Given the description of an element on the screen output the (x, y) to click on. 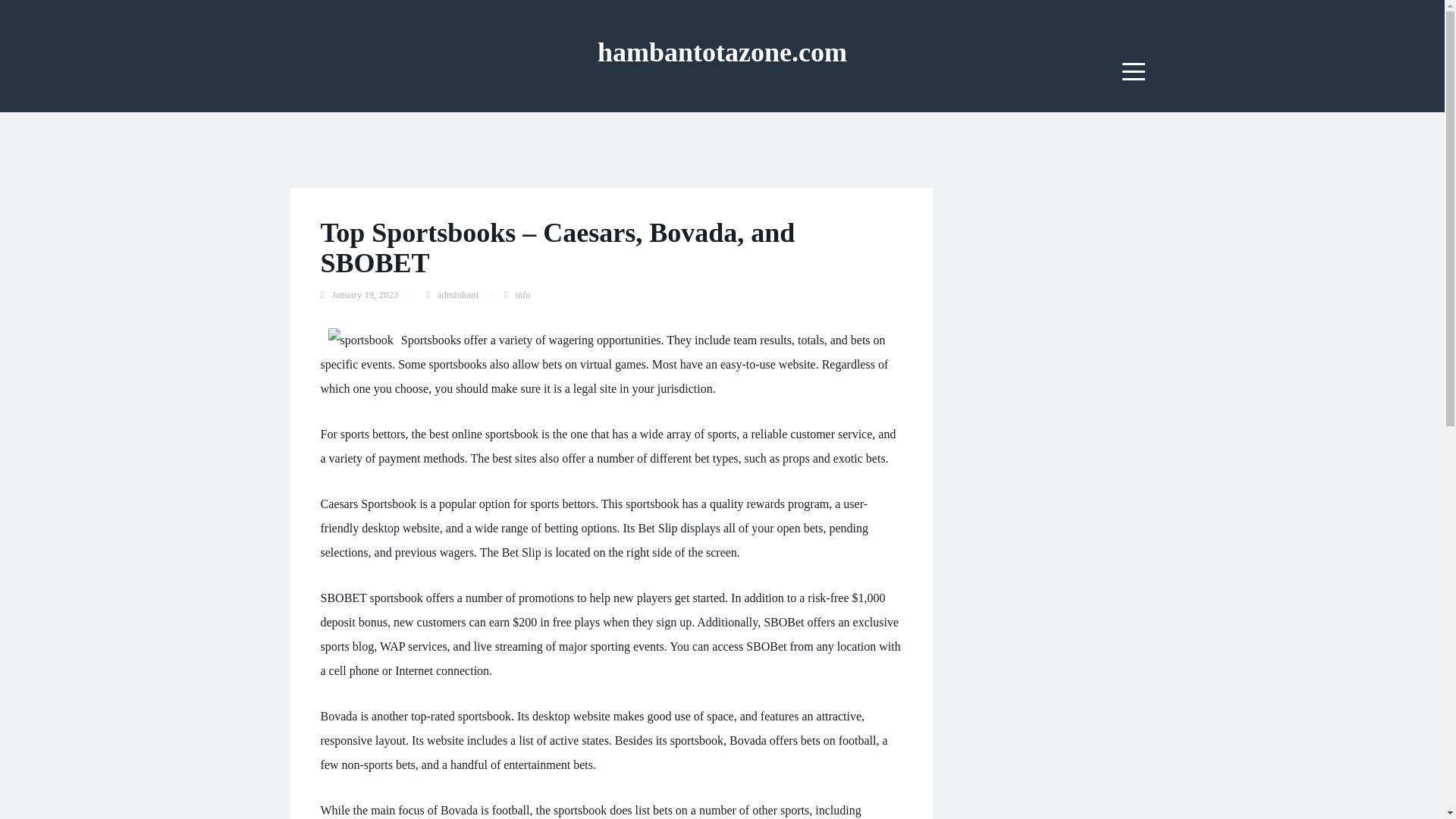
hambantotazone.com (721, 51)
Menu (1133, 71)
January 19, 2023 (364, 294)
adminham (458, 294)
info (523, 294)
